Given the description of an element on the screen output the (x, y) to click on. 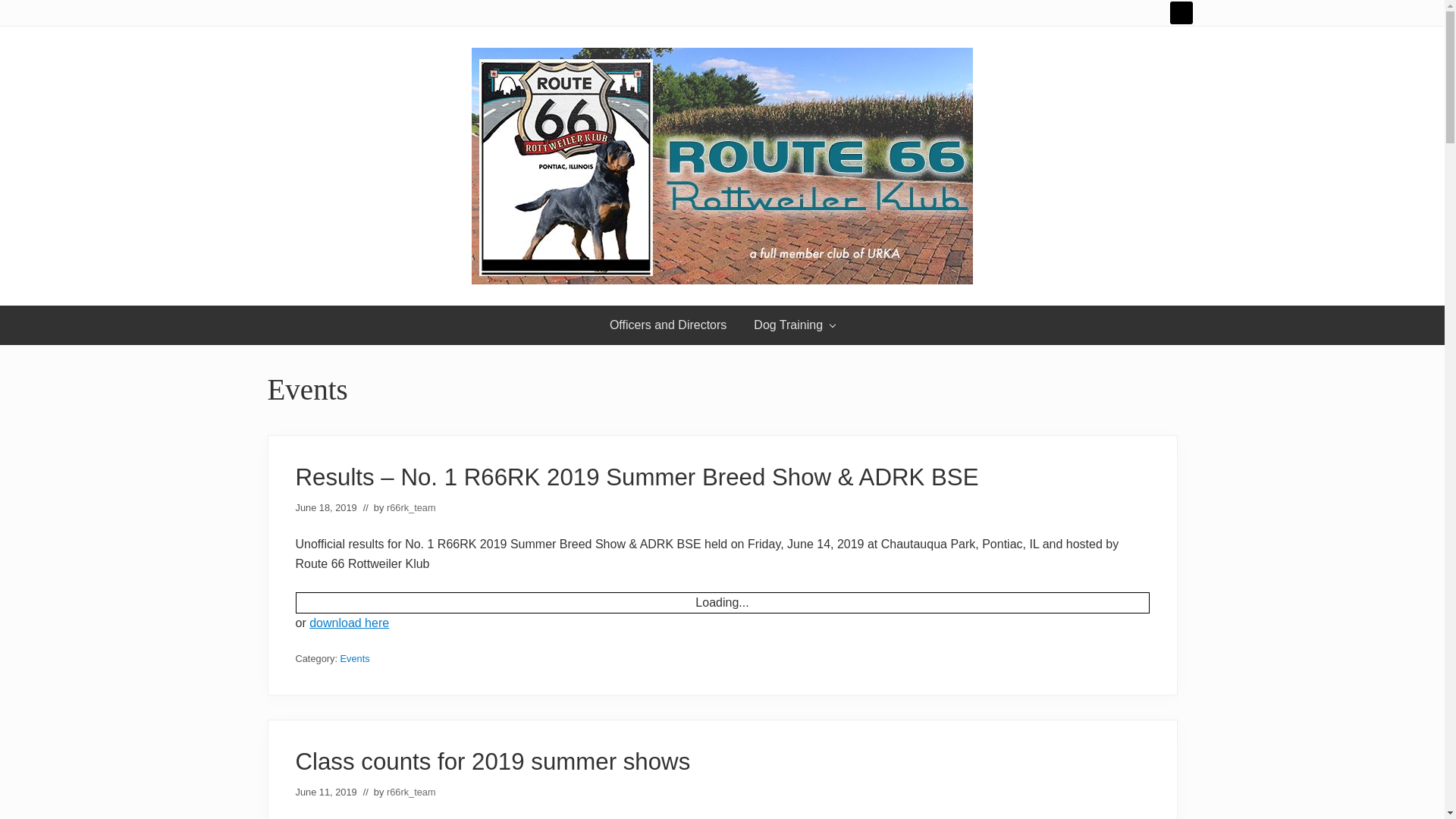
Class counts for 2019 summer shows (492, 761)
Dog Training (793, 324)
Officers and Directors (667, 324)
Events (354, 658)
Facebook (1180, 12)
Facebook (1180, 12)
download here (348, 622)
